Given the description of an element on the screen output the (x, y) to click on. 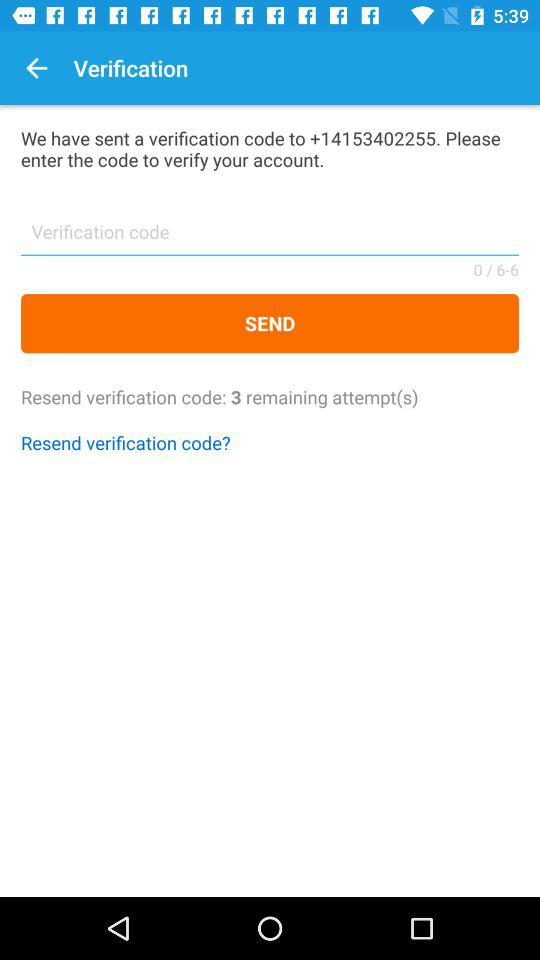
open the item to the left of verification (36, 67)
